Given the description of an element on the screen output the (x, y) to click on. 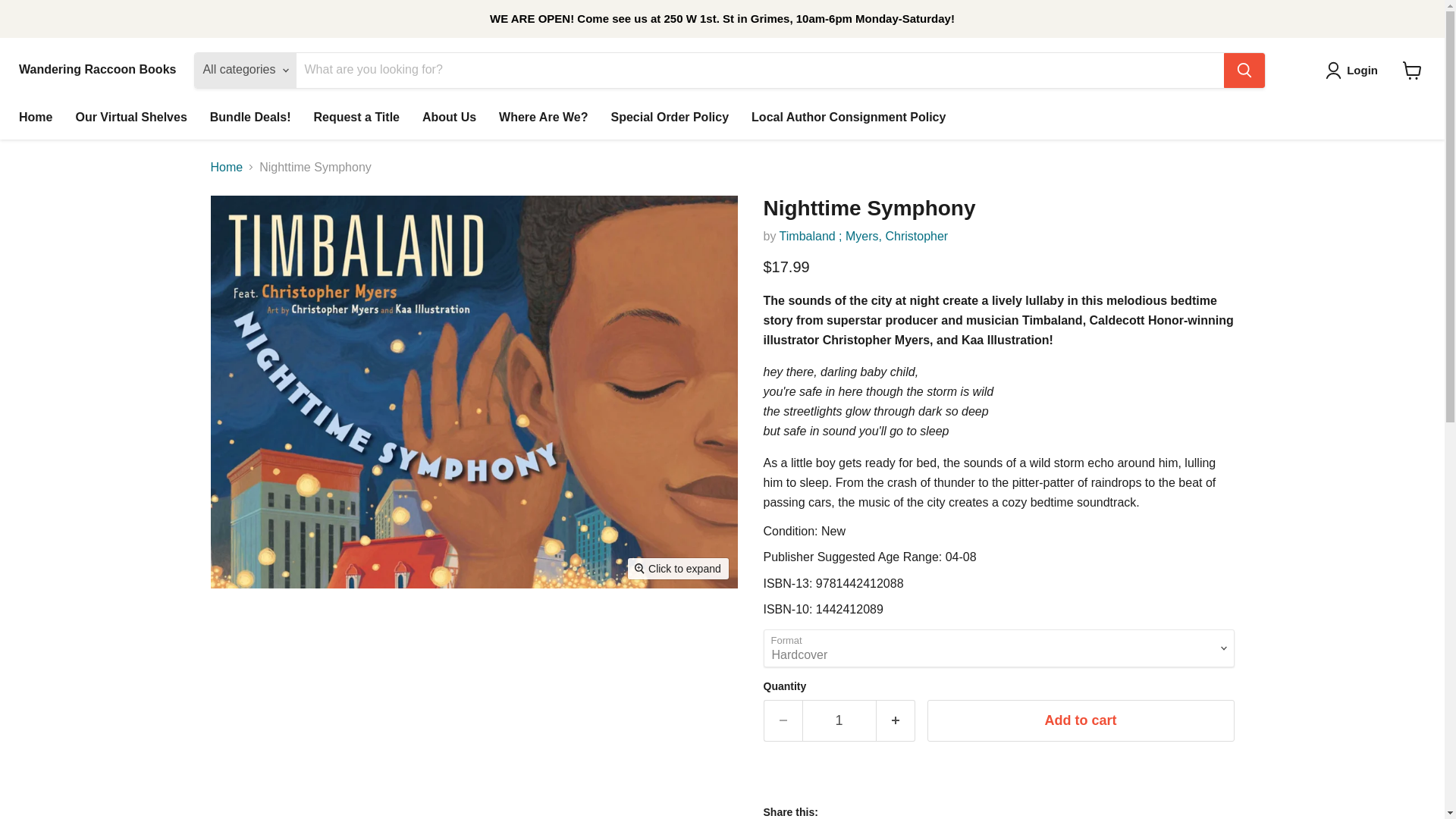
Home (227, 167)
Timbaland ; Myers, Christopher (863, 236)
About Us (448, 117)
Timbaland ; Myers, Christopher (863, 236)
Local Author Consignment Policy (847, 117)
Add to cart (1079, 721)
1 (839, 721)
Request a Title (355, 117)
Wandering Raccoon Books (97, 69)
View cart (1411, 69)
Where Are We? (542, 117)
Click to expand (678, 568)
Special Order Policy (668, 117)
Home (35, 117)
Our Virtual Shelves (131, 117)
